Given the description of an element on the screen output the (x, y) to click on. 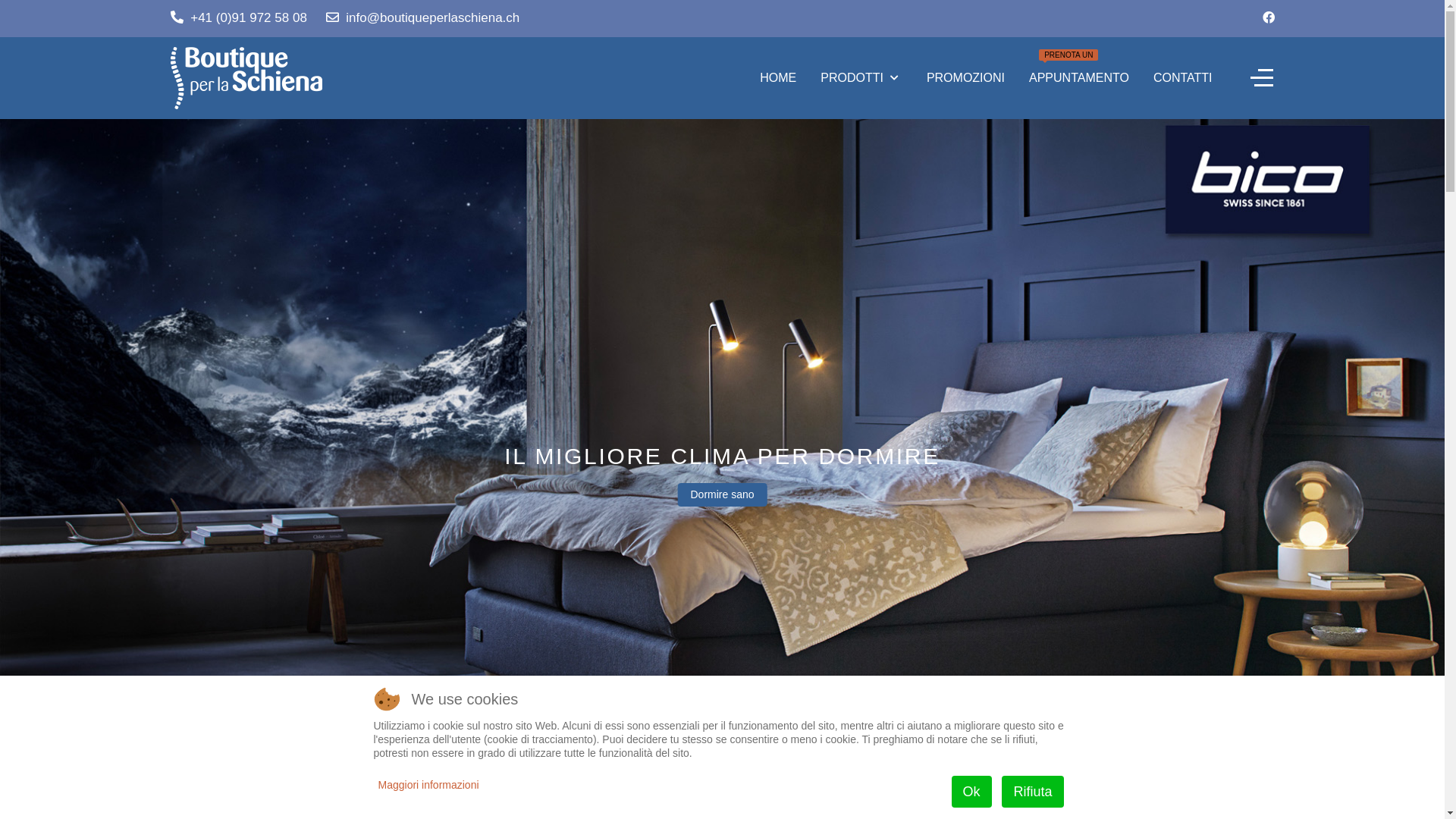
HOME Element type: text (777, 78)
Dormire sano Element type: text (721, 494)
Maggiori informazioni Element type: text (427, 784)
PRODOTTI Element type: text (861, 78)
PROMOZIONI Element type: text (965, 78)
Rifiuta Element type: text (1032, 791)
+41 (0)91 972 58 08 Element type: text (248, 17)
CONTATTI Element type: text (1182, 78)
info@boutiqueperlaschiena.ch Element type: text (432, 17)
APPUNTAMENTO
PRENOTA UN Element type: text (1078, 78)
Facebook Element type: hover (1267, 17)
Ok Element type: text (971, 791)
